Given the description of an element on the screen output the (x, y) to click on. 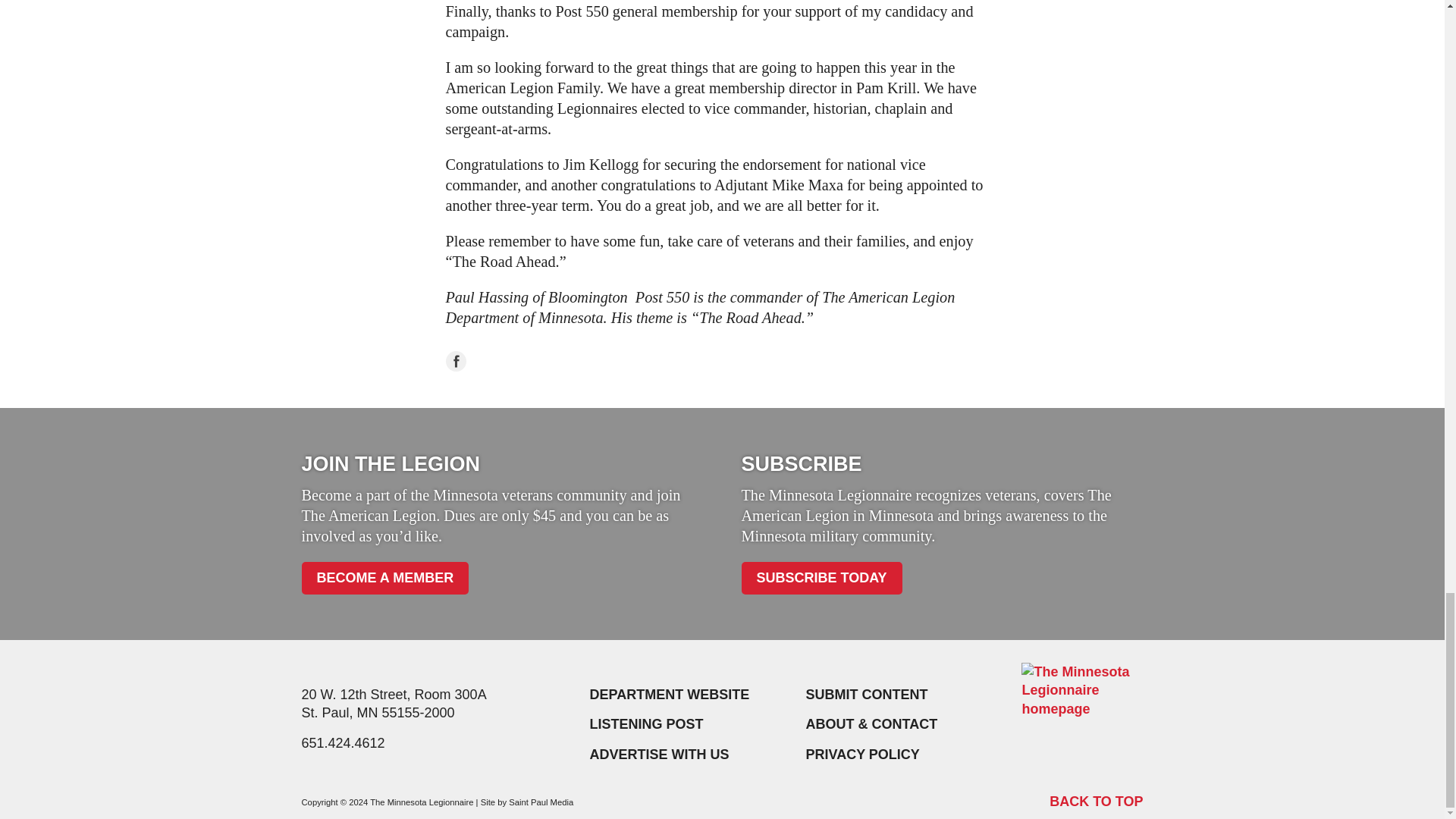
Share on LinkedIn (489, 361)
Print (588, 361)
Email (554, 361)
Share on Twitter (521, 361)
Share on Facebook (455, 361)
BECOME A MEMBER (384, 577)
